Given the description of an element on the screen output the (x, y) to click on. 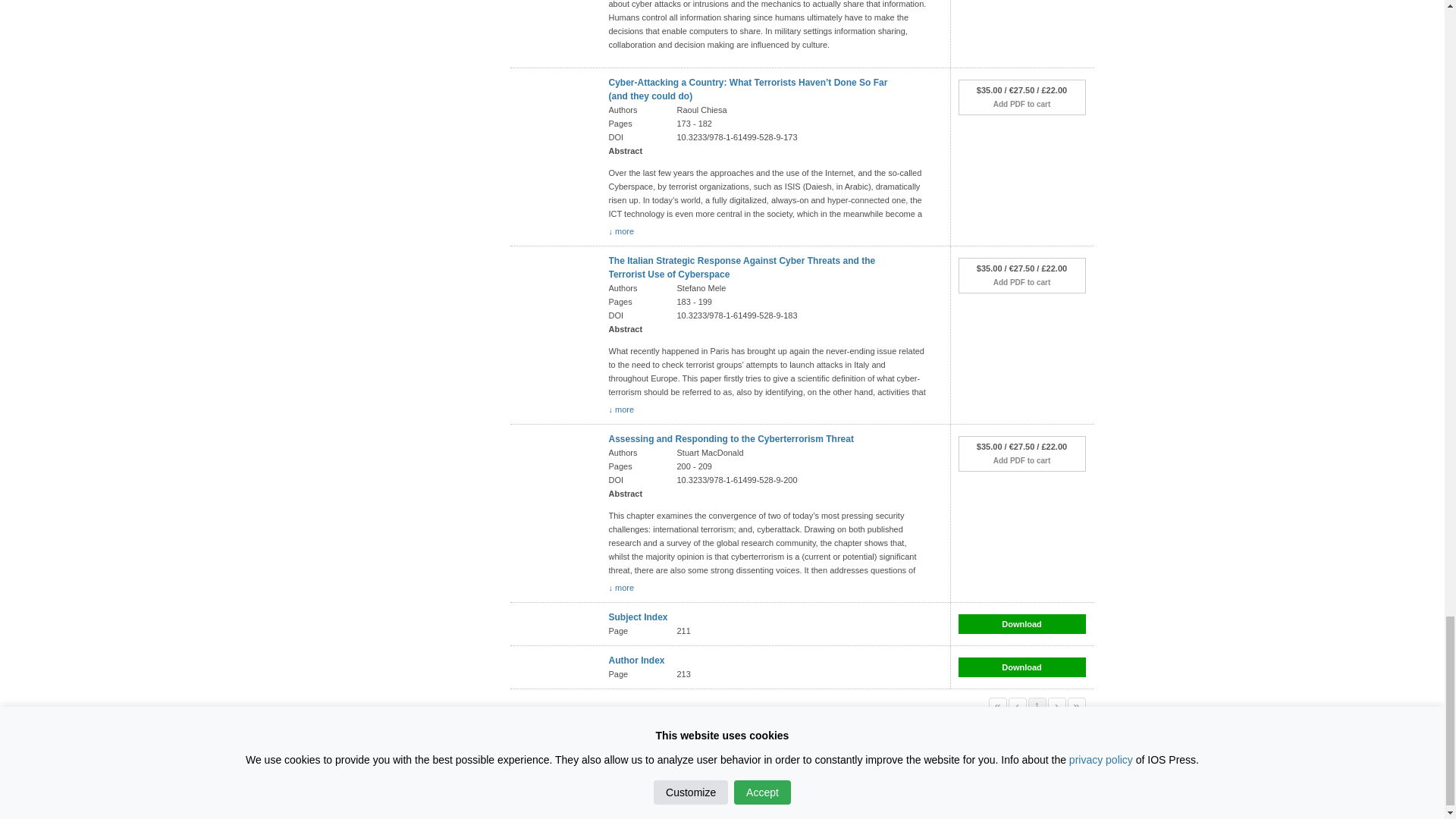
Subject Index (637, 616)
Assessing and Responding to the Cyberterrorism Threat (730, 439)
1 (1036, 705)
Author Index (635, 660)
